Given the description of an element on the screen output the (x, y) to click on. 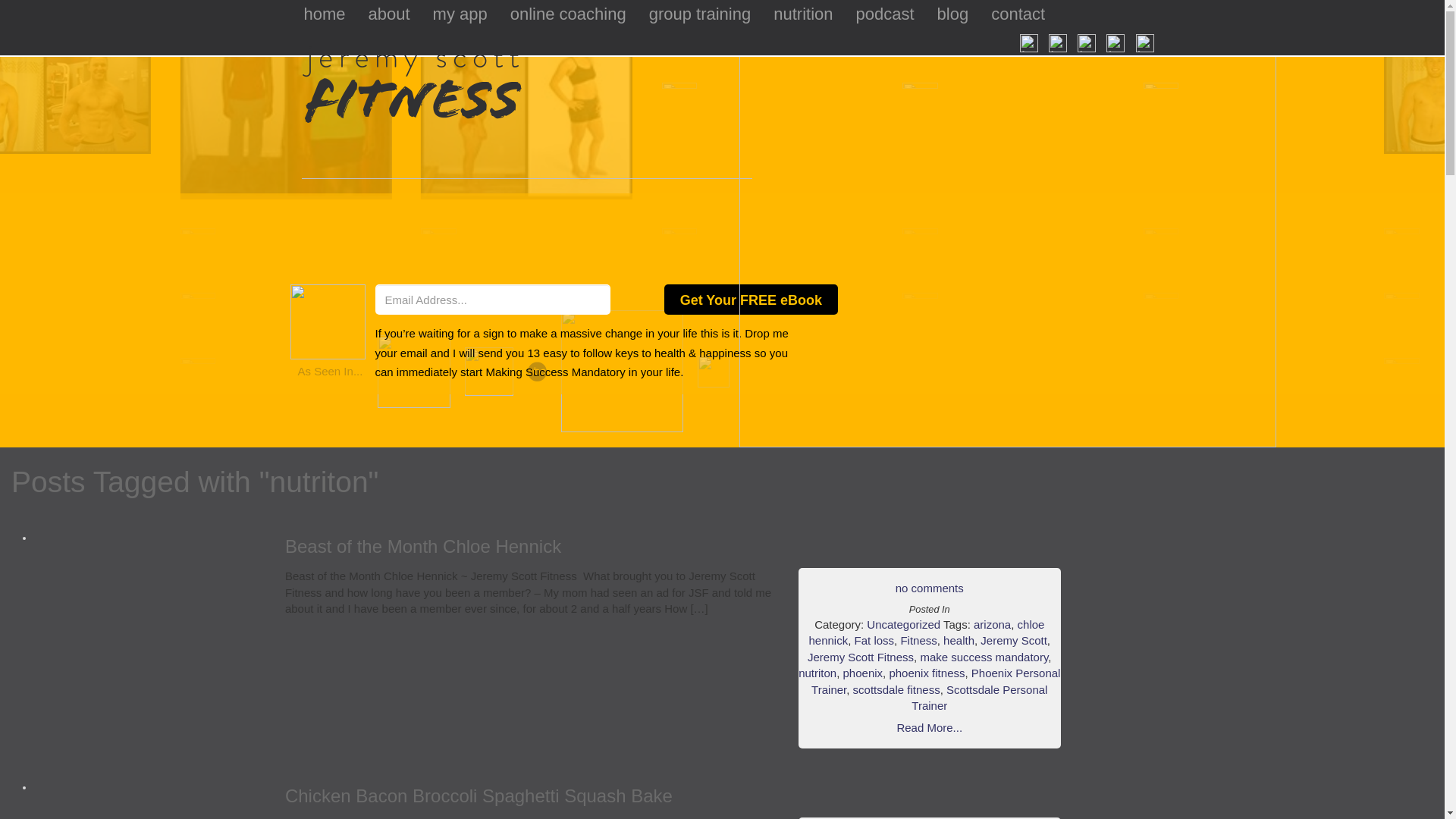
online coaching (568, 14)
Phoenix Personal Trainer (934, 680)
contact (1018, 14)
Fitness (917, 640)
Permalink to Beast of the Month Chloe Hennick (422, 546)
arizona (992, 624)
Scottsdale Personal Trainer (978, 697)
Jeremy Scott (1012, 640)
nutriton (816, 672)
no comments (929, 587)
Uncategorized (903, 624)
podcast (885, 14)
my app (460, 14)
health (958, 640)
Jeremy Scott Fitness (861, 656)
